Given the description of an element on the screen output the (x, y) to click on. 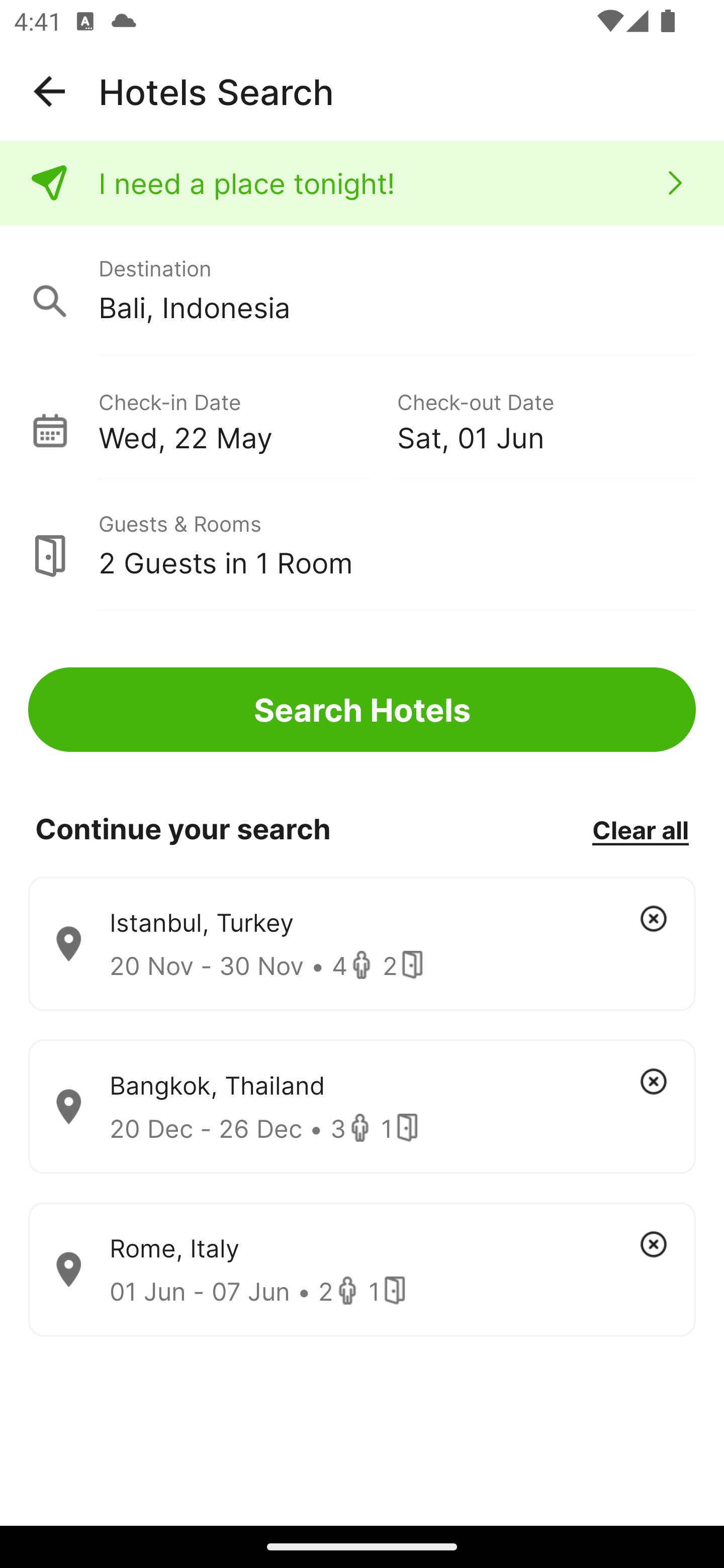
I need a place tonight! (362, 183)
Destination Bali, Indonesia (362, 290)
Check-in Date Wed, 22 May (247, 418)
Check-out Date Sat, 01 Jun (546, 418)
Guests & Rooms 2 Guests in 1 Room (362, 545)
Search Hotels (361, 709)
Clear all (640, 829)
Istanbul, Turkey 20 Nov - 30 Nov • 4  2  (361, 943)
Bangkok, Thailand 20 Dec - 26 Dec • 3  1  (361, 1106)
Rome, Italy 01 Jun - 07 Jun • 2  1  (361, 1269)
